Given the description of an element on the screen output the (x, y) to click on. 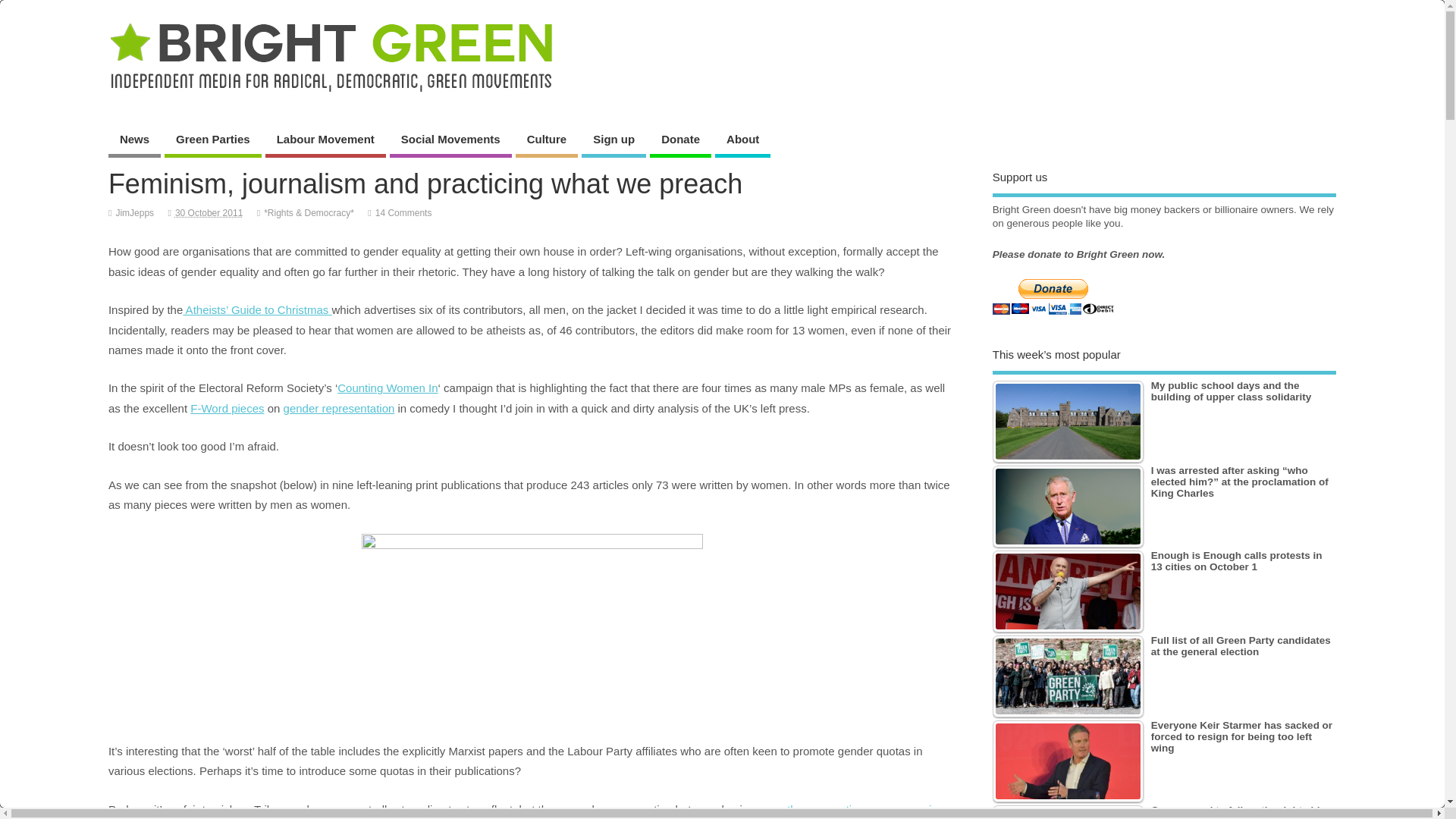
gender left publications (532, 628)
Posts by JimJepps (134, 213)
14 Comments (403, 213)
About (742, 141)
Sign up (613, 141)
JimJepps (134, 213)
Donate (680, 141)
Social Movements (451, 141)
News (133, 141)
